Given the description of an element on the screen output the (x, y) to click on. 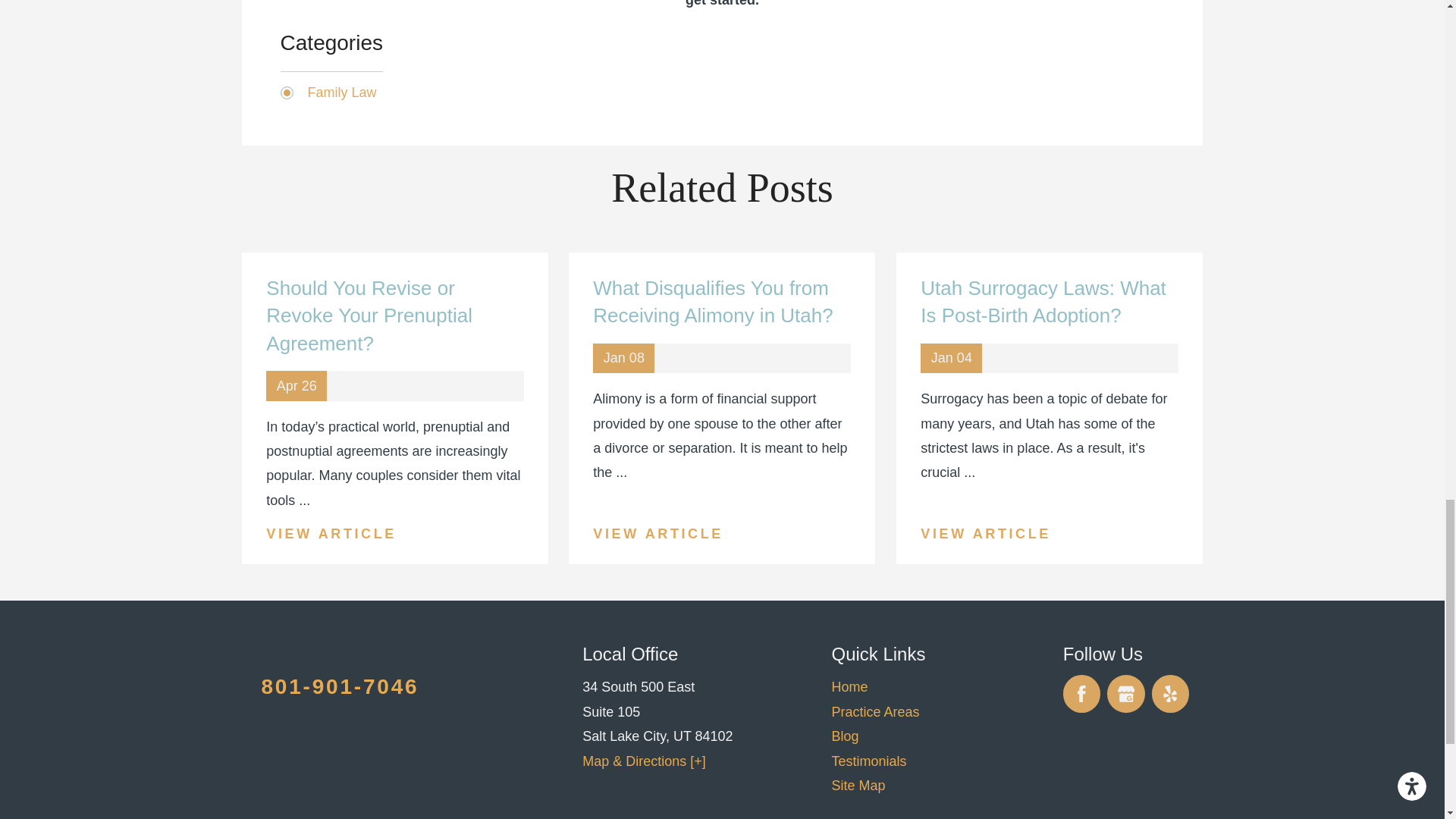
Google Business Profile (1125, 693)
Facebook (1081, 693)
Yelp (1170, 693)
